Given the description of an element on the screen output the (x, y) to click on. 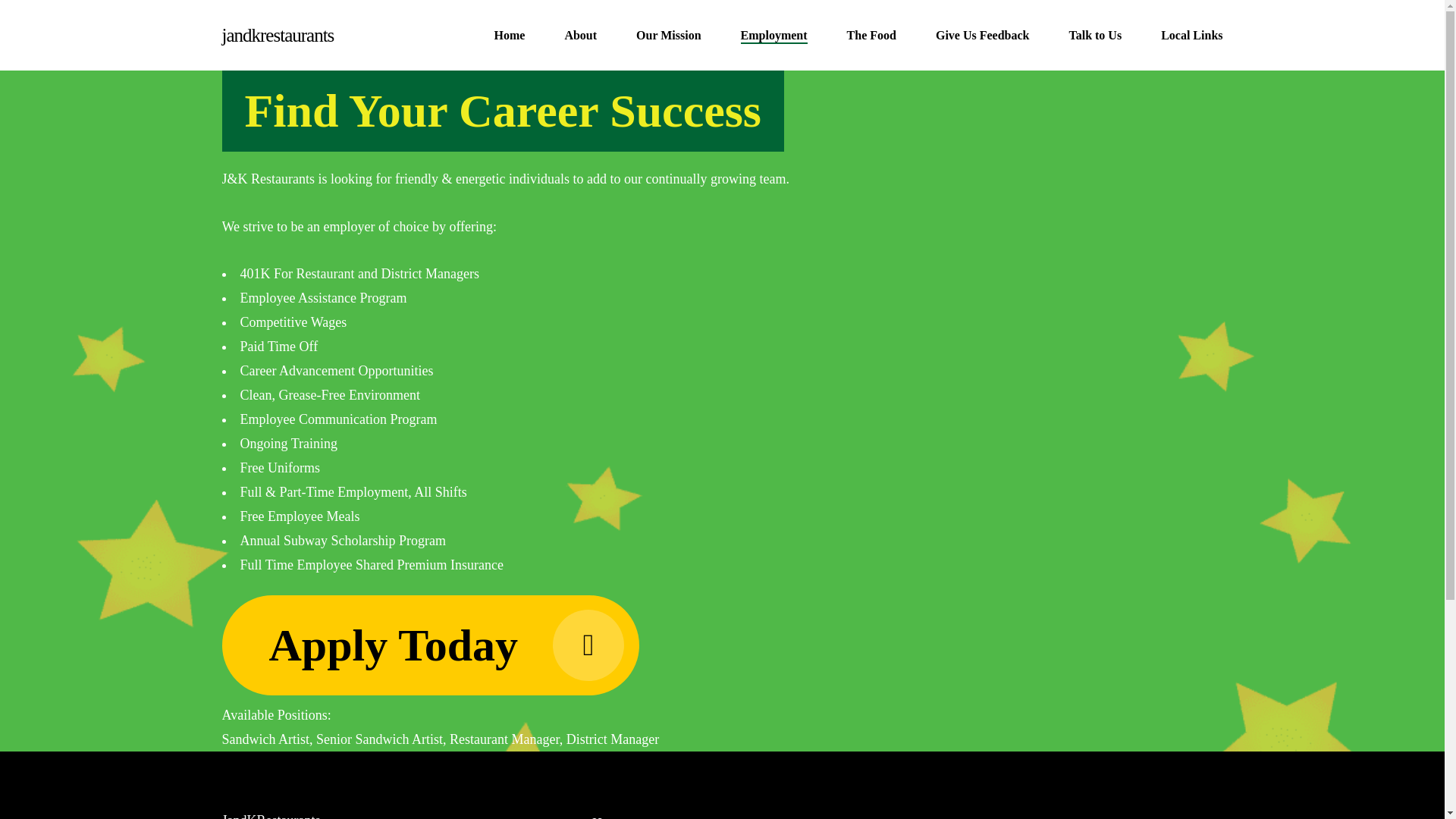
Home (609, 817)
The Food (871, 34)
Give Us Feedback (982, 34)
About (580, 34)
Our Mission (668, 34)
jandkrestaurants (277, 35)
Home (510, 34)
Local Links (1191, 34)
Employment (774, 34)
Apply Today (430, 645)
